Given the description of an element on the screen output the (x, y) to click on. 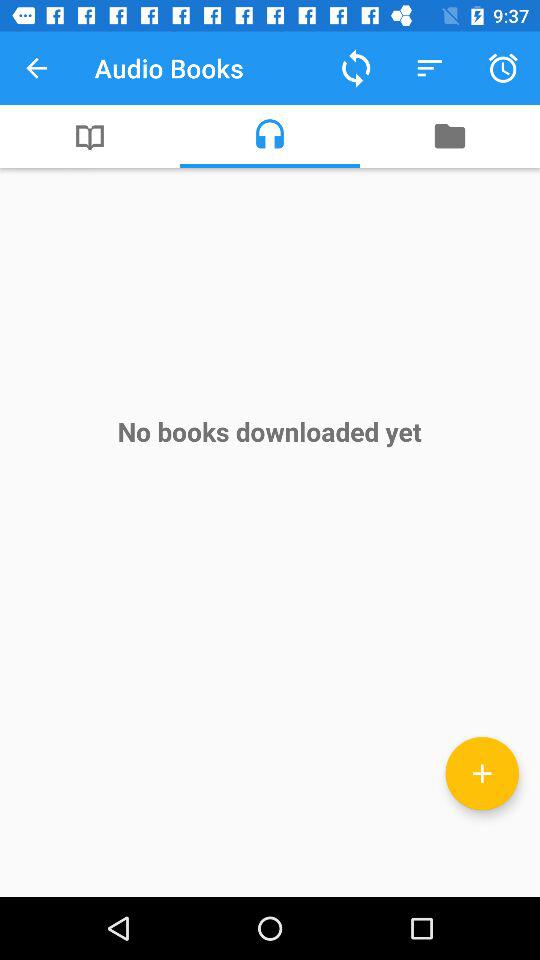
tap the item above the no books downloaded item (450, 136)
